Given the description of an element on the screen output the (x, y) to click on. 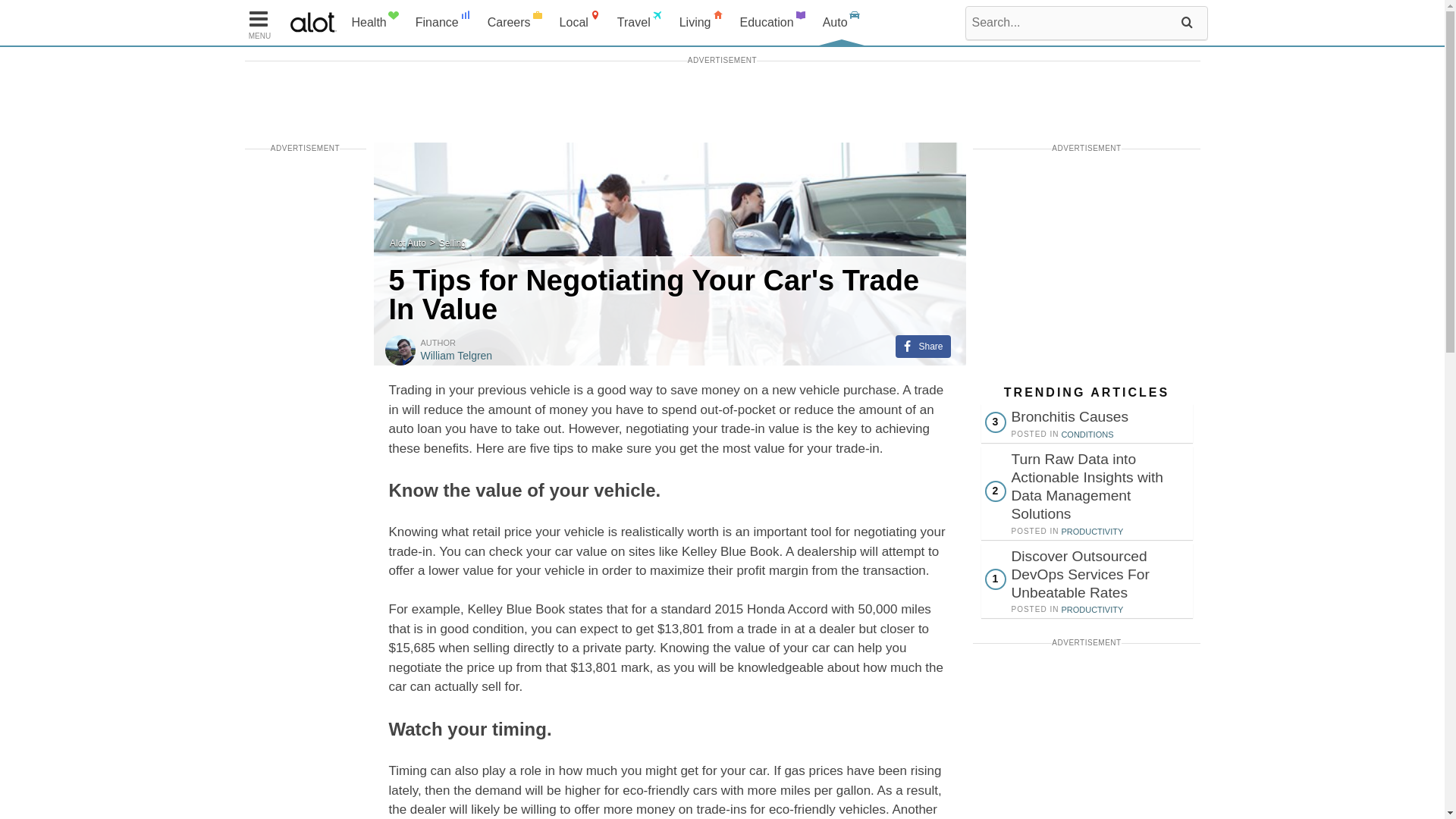
Careers (515, 22)
Health (375, 22)
Share on Facebook (922, 345)
Travel (640, 22)
Finance (443, 22)
Local (580, 22)
Living (701, 22)
